Given the description of an element on the screen output the (x, y) to click on. 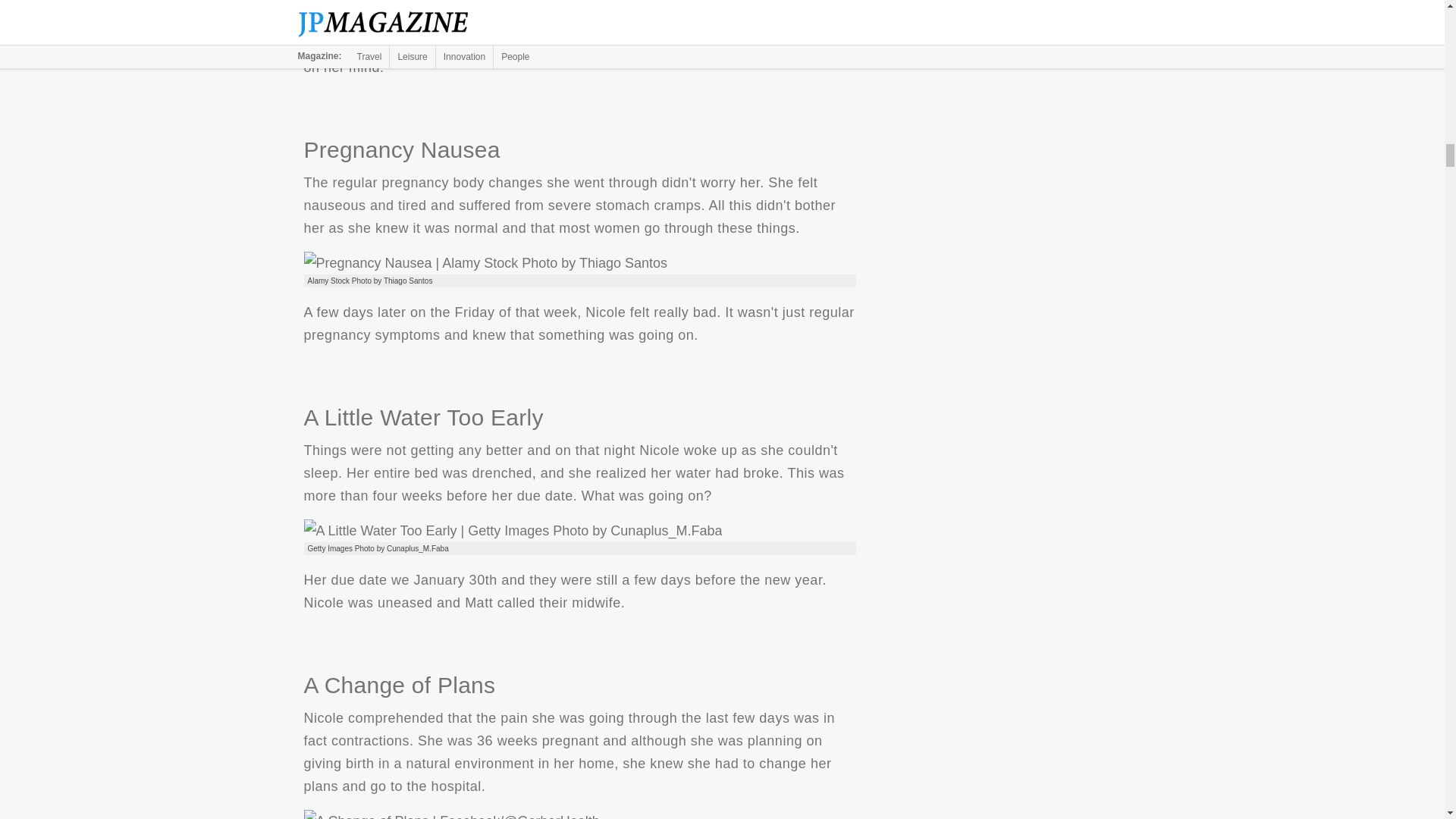
A Change of Plans (450, 814)
Pregnancy Nausea (484, 262)
A Little Water Too Early (512, 530)
